Given the description of an element on the screen output the (x, y) to click on. 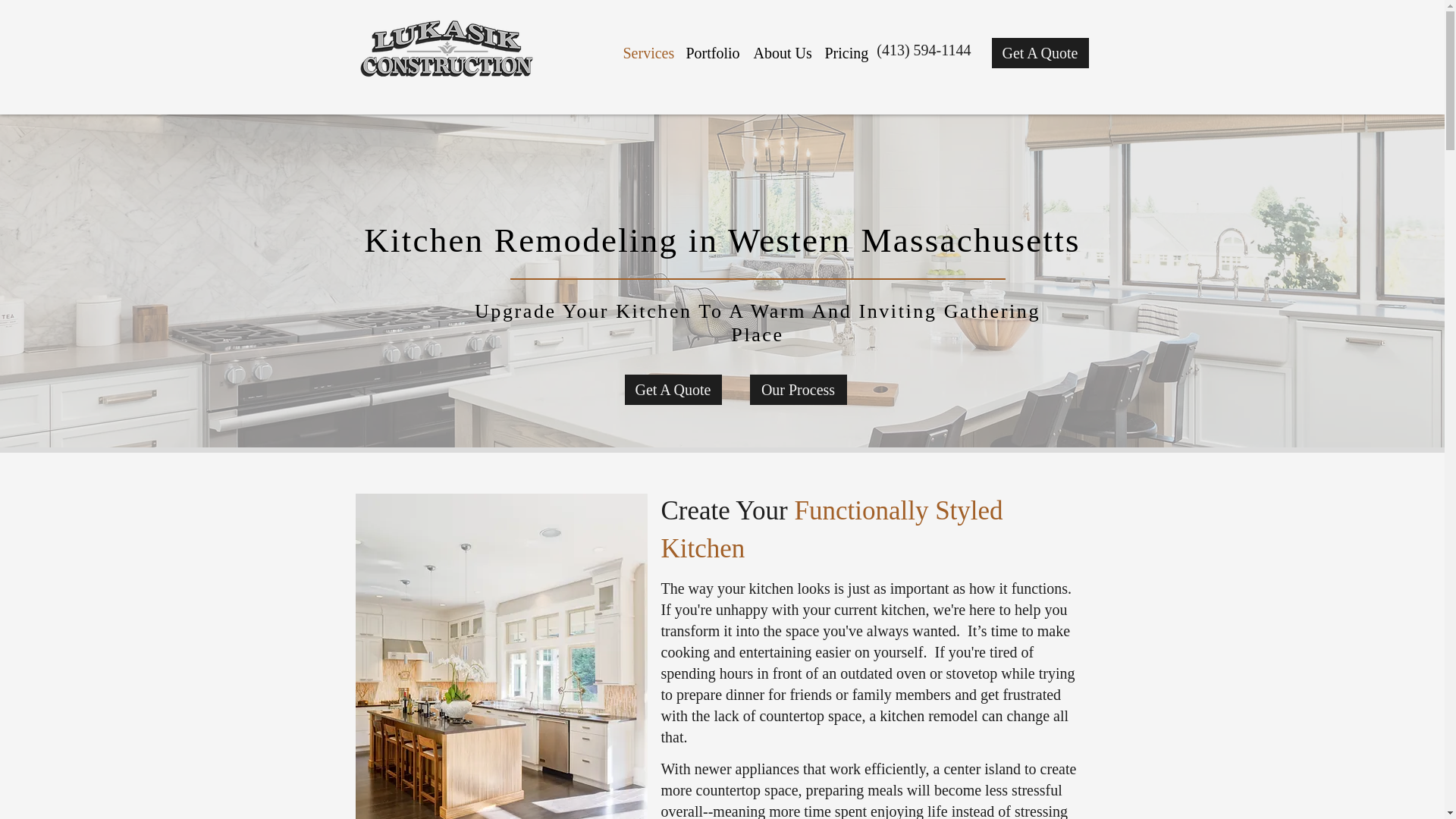
Get A Quote (1040, 52)
Portfolio (711, 53)
Our Process (797, 389)
About Us (780, 53)
Pricing (845, 53)
Services (646, 53)
Get A Quote (673, 389)
